Given the description of an element on the screen output the (x, y) to click on. 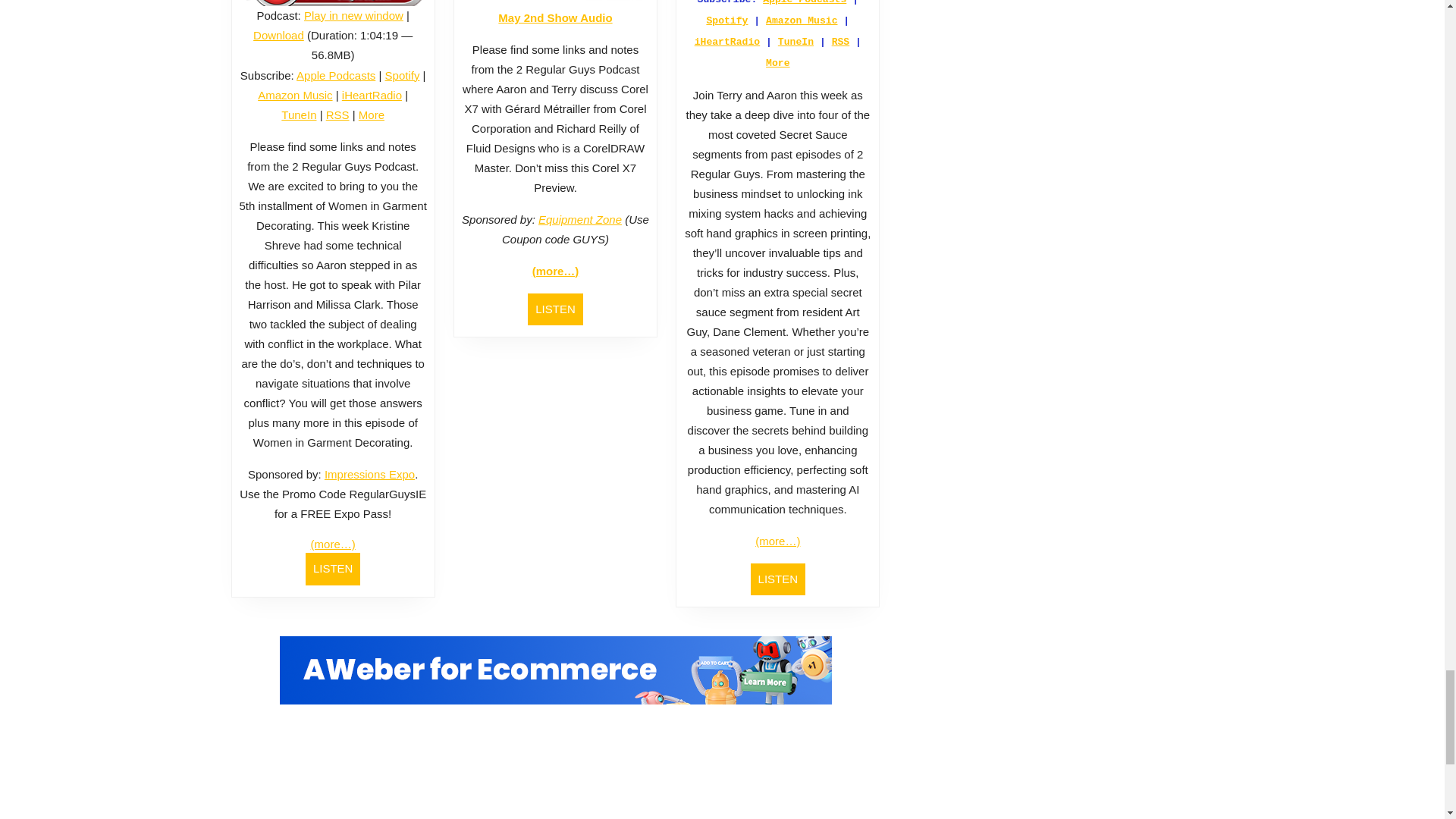
Play in new window (353, 15)
Subscribe via RSS (337, 114)
Download (278, 34)
Subscribe on iHeartRadio (371, 94)
Play (333, 2)
Subscribe on Spotify (402, 74)
Subscribe on Apple Podcasts (336, 74)
Subscribe on Amazon Music (294, 94)
Subscribe on TuneIn (298, 114)
More (371, 114)
